Given the description of an element on the screen output the (x, y) to click on. 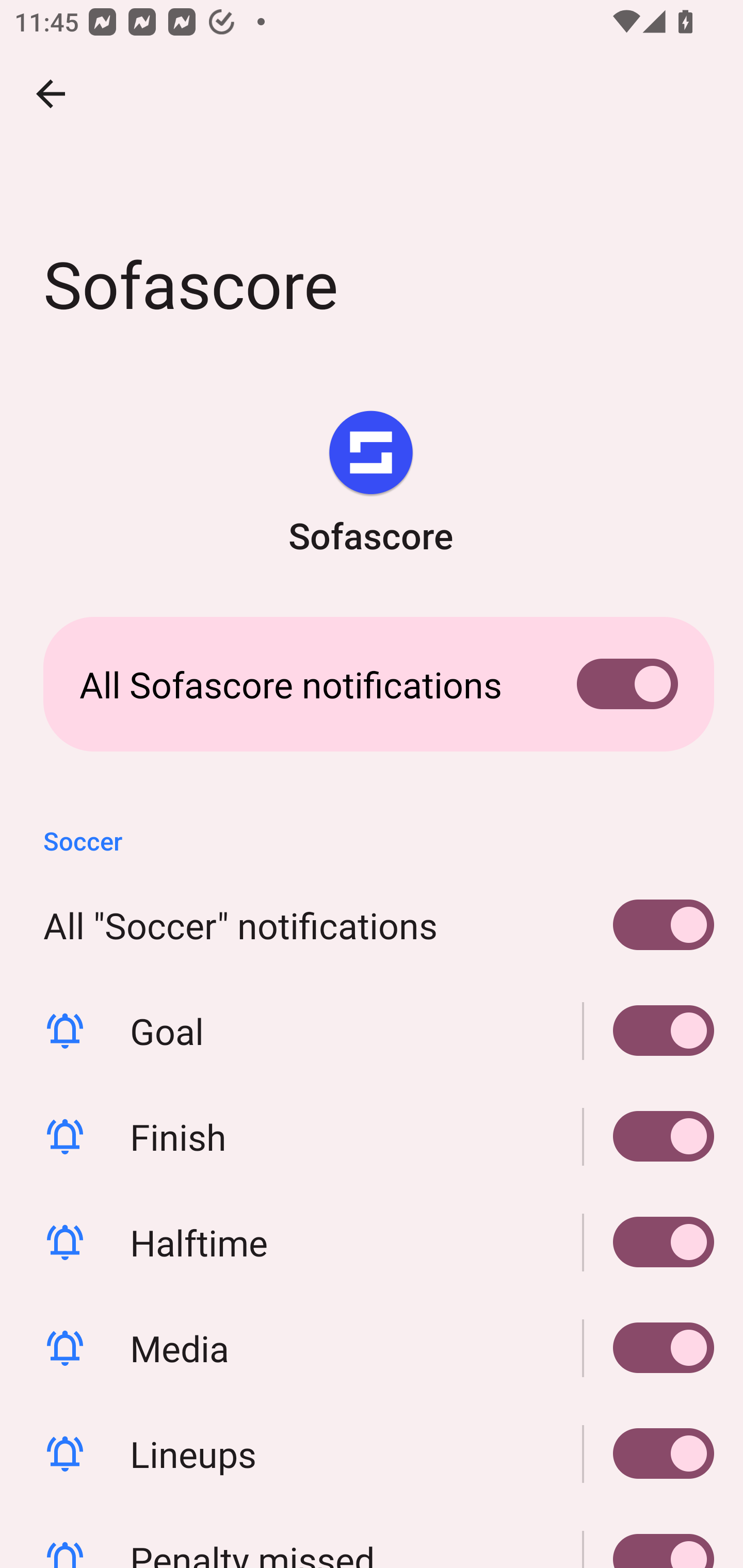
Navigate up (50, 93)
Sofascore (370, 484)
All Sofascore notifications (371, 684)
All "Soccer" notifications (371, 924)
Goal (371, 1030)
Goal (648, 1030)
Finish (371, 1136)
Finish (648, 1136)
Halftime (371, 1242)
Halftime (648, 1242)
Media (371, 1347)
Media (648, 1347)
Lineups (371, 1453)
Lineups (648, 1453)
Penalty missed (648, 1537)
